Given the description of an element on the screen output the (x, y) to click on. 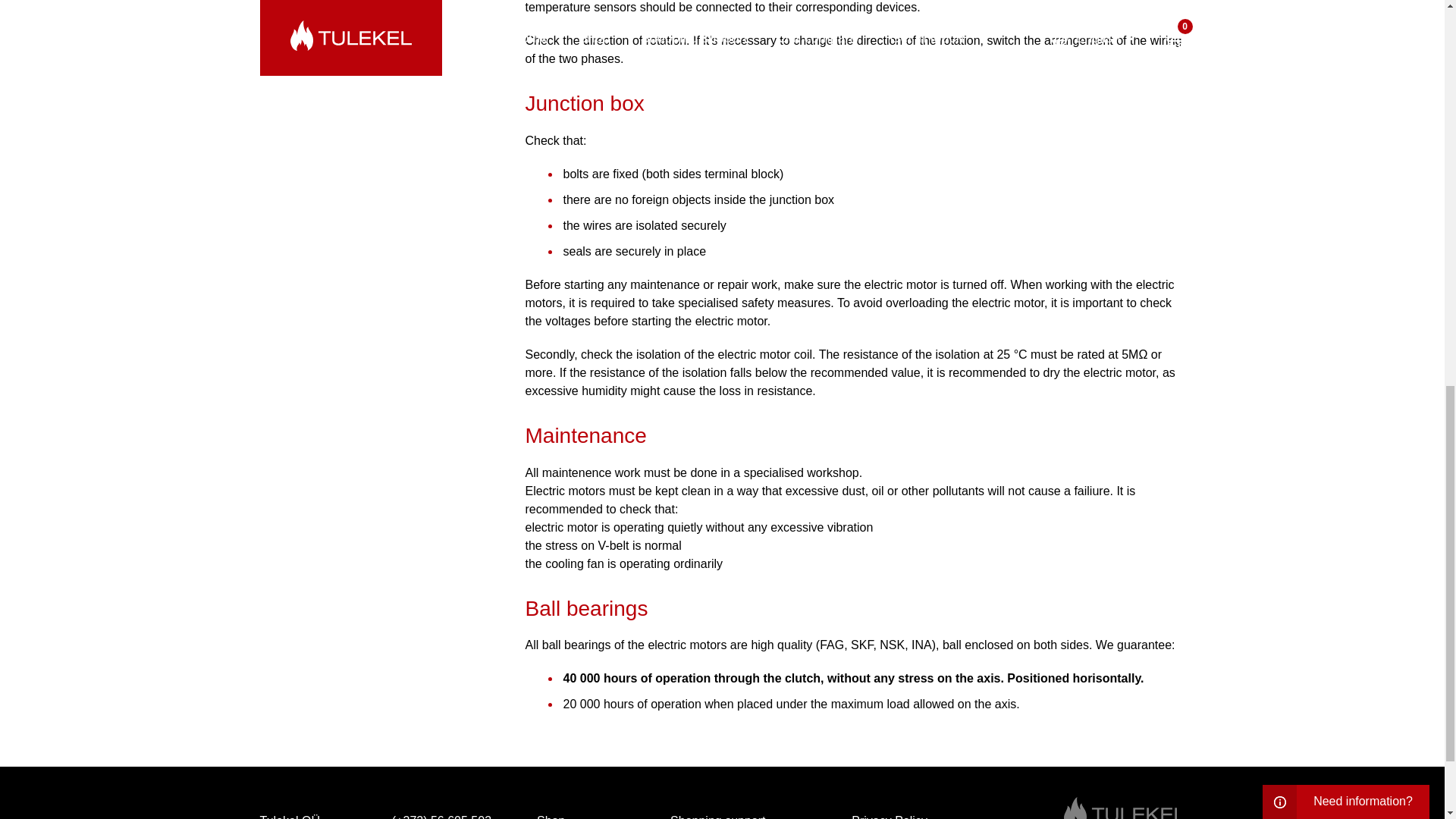
Shop (550, 812)
Shopping support (717, 812)
Privacy Policy (888, 812)
